Given the description of an element on the screen output the (x, y) to click on. 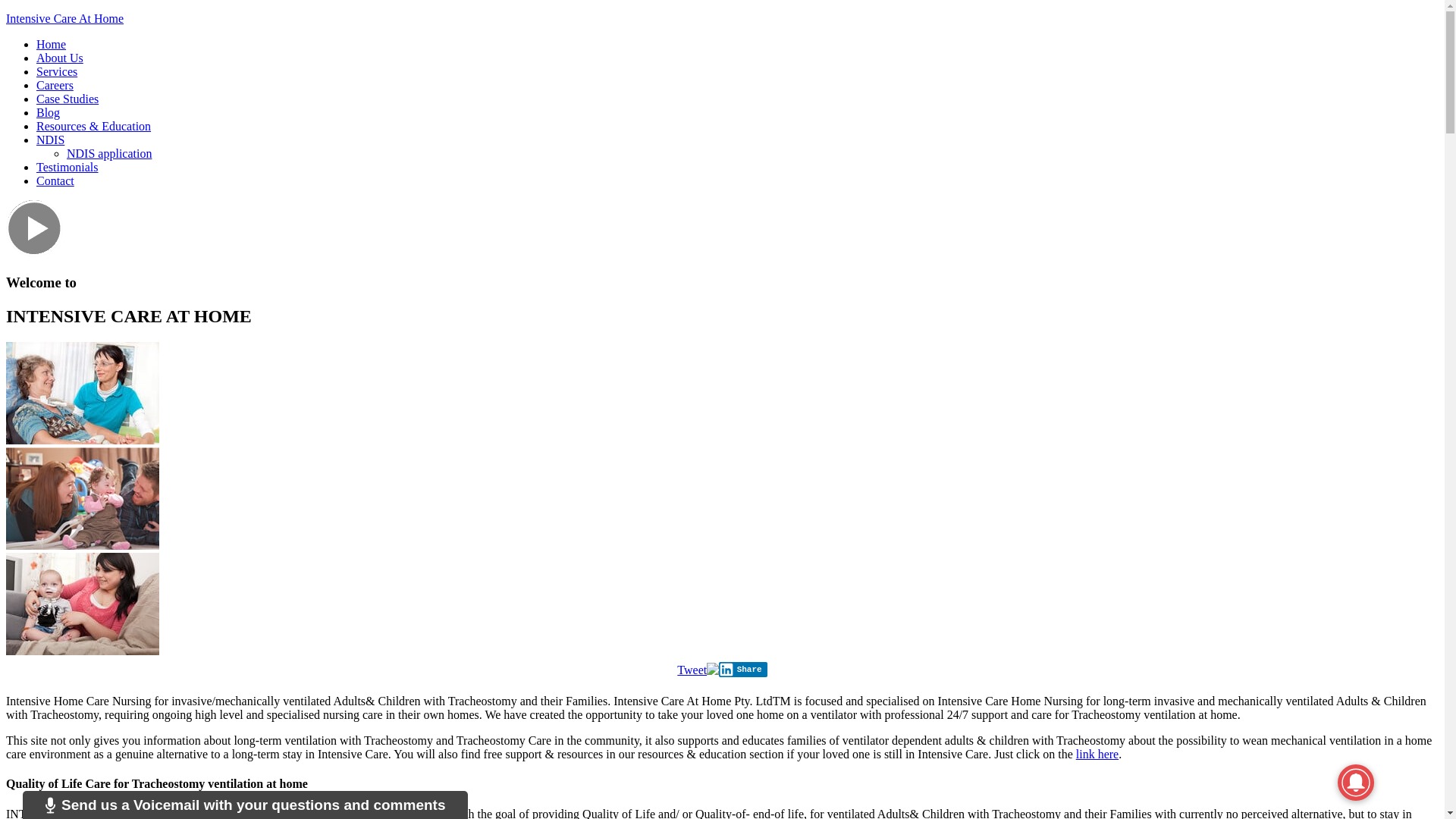
NDIS application Element type: text (108, 153)
Intensive Care At Home Element type: text (64, 18)
Share Element type: text (742, 669)
Careers Element type: text (54, 84)
Tweet Element type: text (691, 670)
Intensive Care at Home 02 Element type: hover (82, 498)
NDIS Element type: text (50, 139)
Resources & Education Element type: text (93, 125)
Intensive Care at Home 01 Element type: hover (82, 393)
Testimonials Element type: text (67, 166)
link here Element type: text (1097, 753)
Blog Element type: text (47, 112)
About Us Element type: text (59, 57)
Services Element type: text (56, 71)
Share Element type: text (742, 669)
Case Studies Element type: text (67, 98)
Intensive Care at Home 03 Element type: hover (82, 603)
Home Element type: text (50, 43)
Contact Element type: text (55, 180)
